Given the description of an element on the screen output the (x, y) to click on. 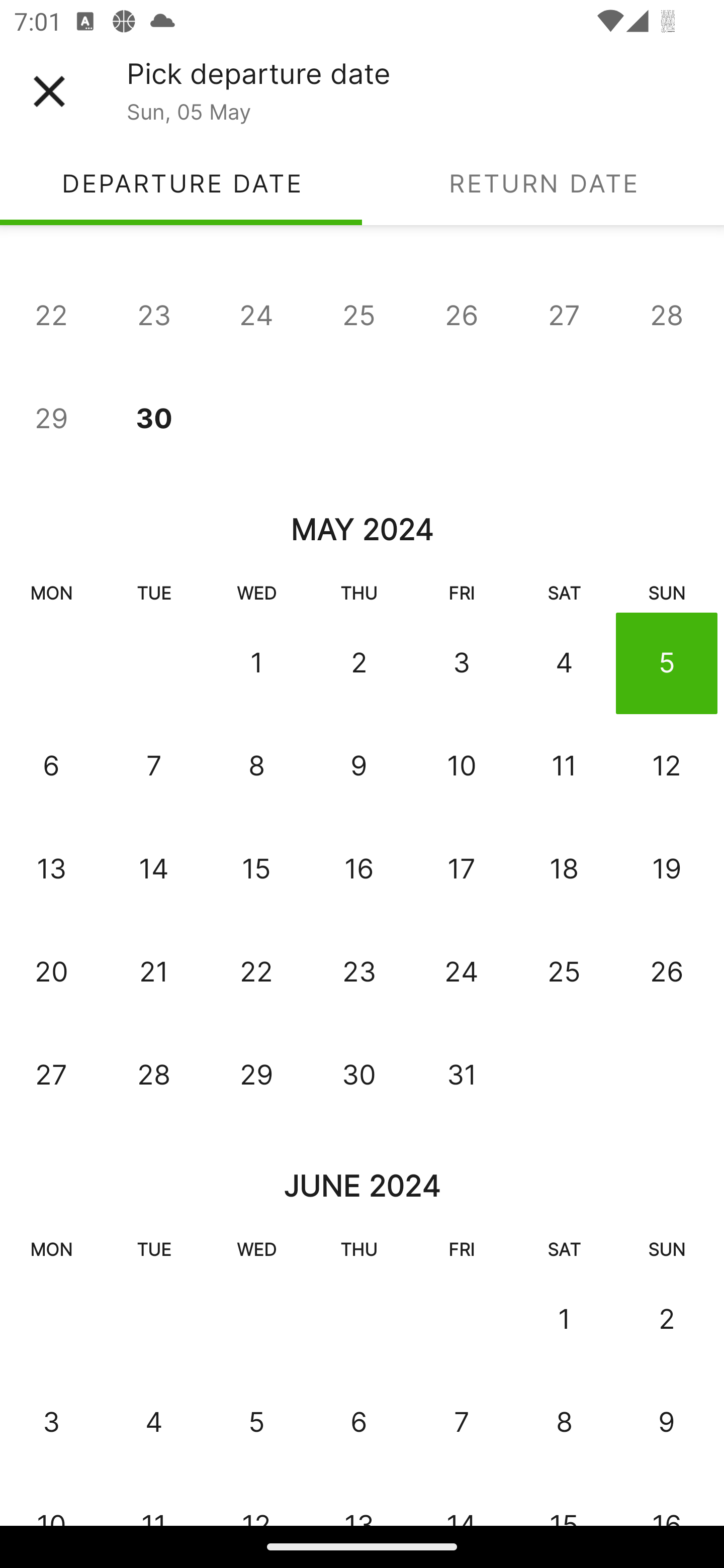
Return Date RETURN DATE (543, 183)
